Given the description of an element on the screen output the (x, y) to click on. 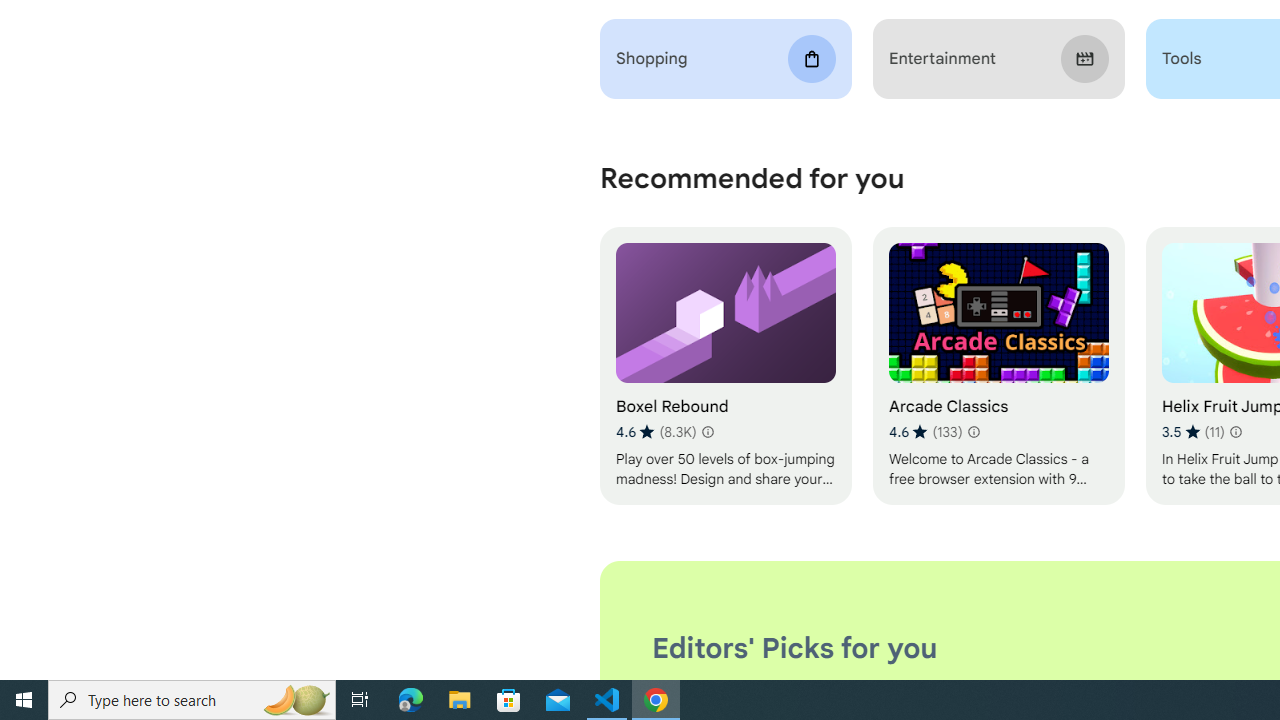
Start (24, 699)
Microsoft Edge (411, 699)
File Explorer (460, 699)
Boxel Rebound (725, 366)
